Given the description of an element on the screen output the (x, y) to click on. 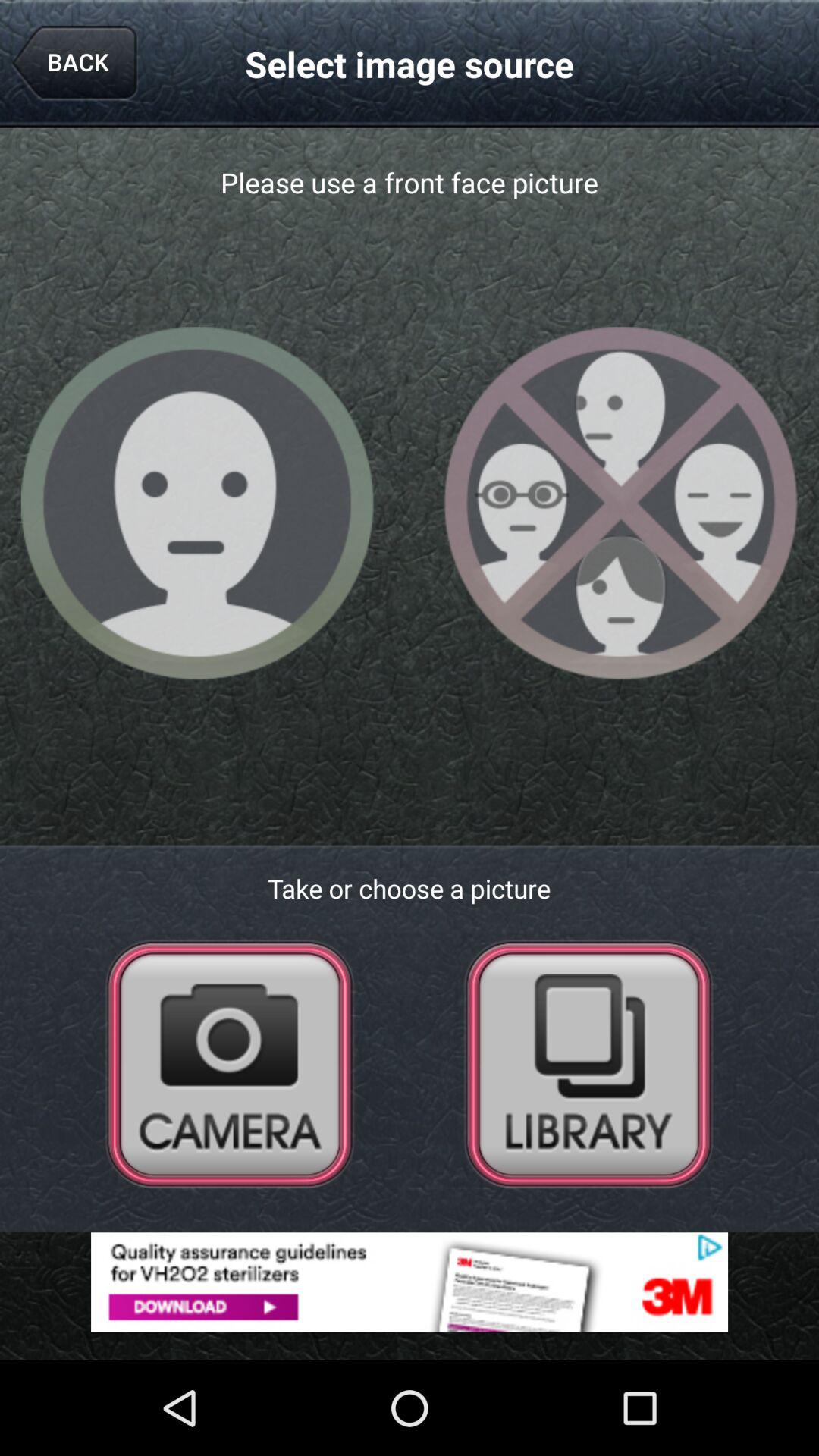
image open option (588, 1063)
